Given the description of an element on the screen output the (x, y) to click on. 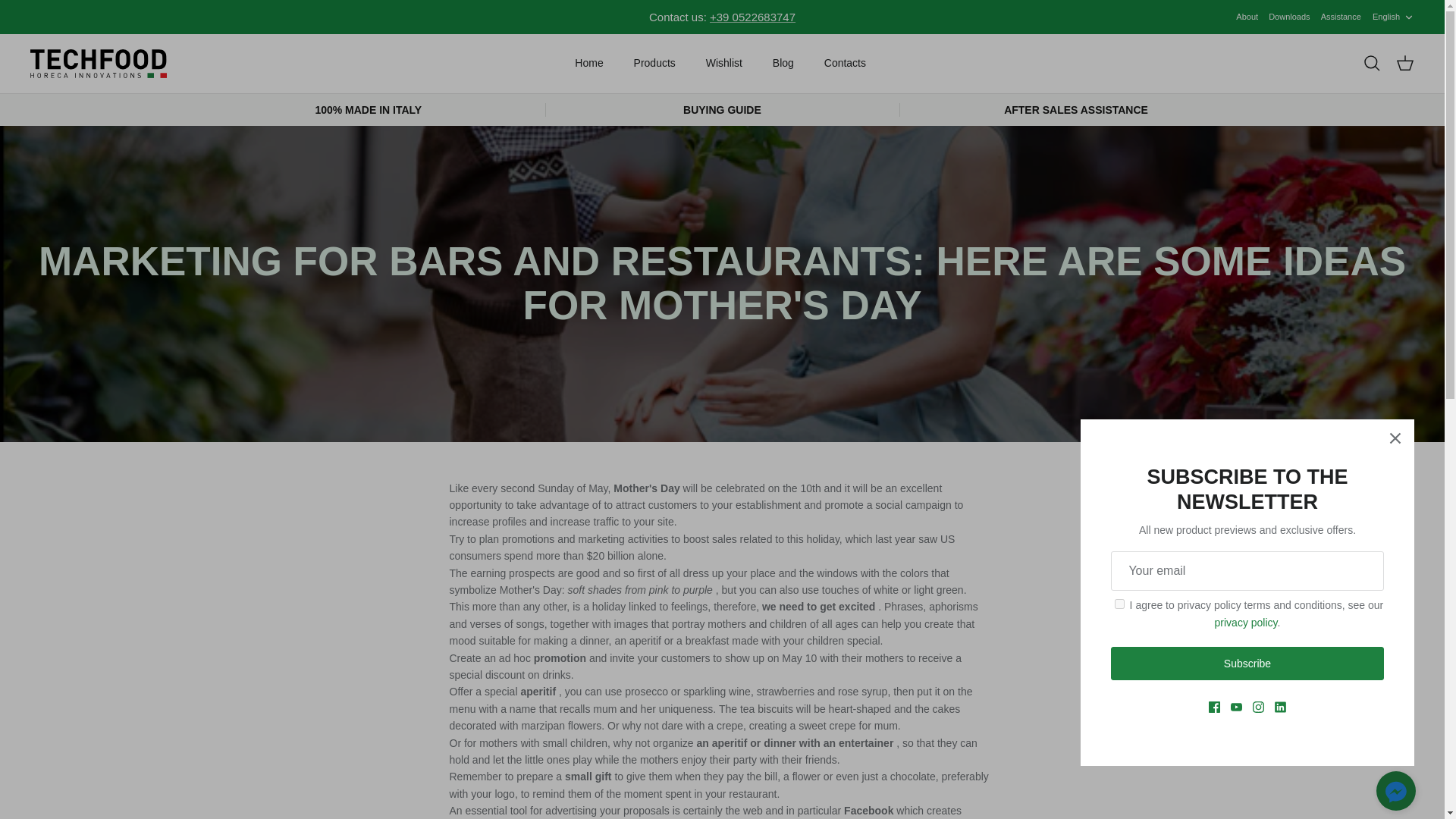
Search (1371, 63)
Contacts (844, 62)
Wishlist (724, 62)
Techfood by Sogabe (98, 63)
Home (587, 62)
on (1119, 603)
Downloads (1288, 16)
Down (1408, 17)
Assistance (1340, 16)
Cart (1404, 63)
About (1246, 16)
Products (1393, 16)
Blog (654, 62)
